Given the description of an element on the screen output the (x, y) to click on. 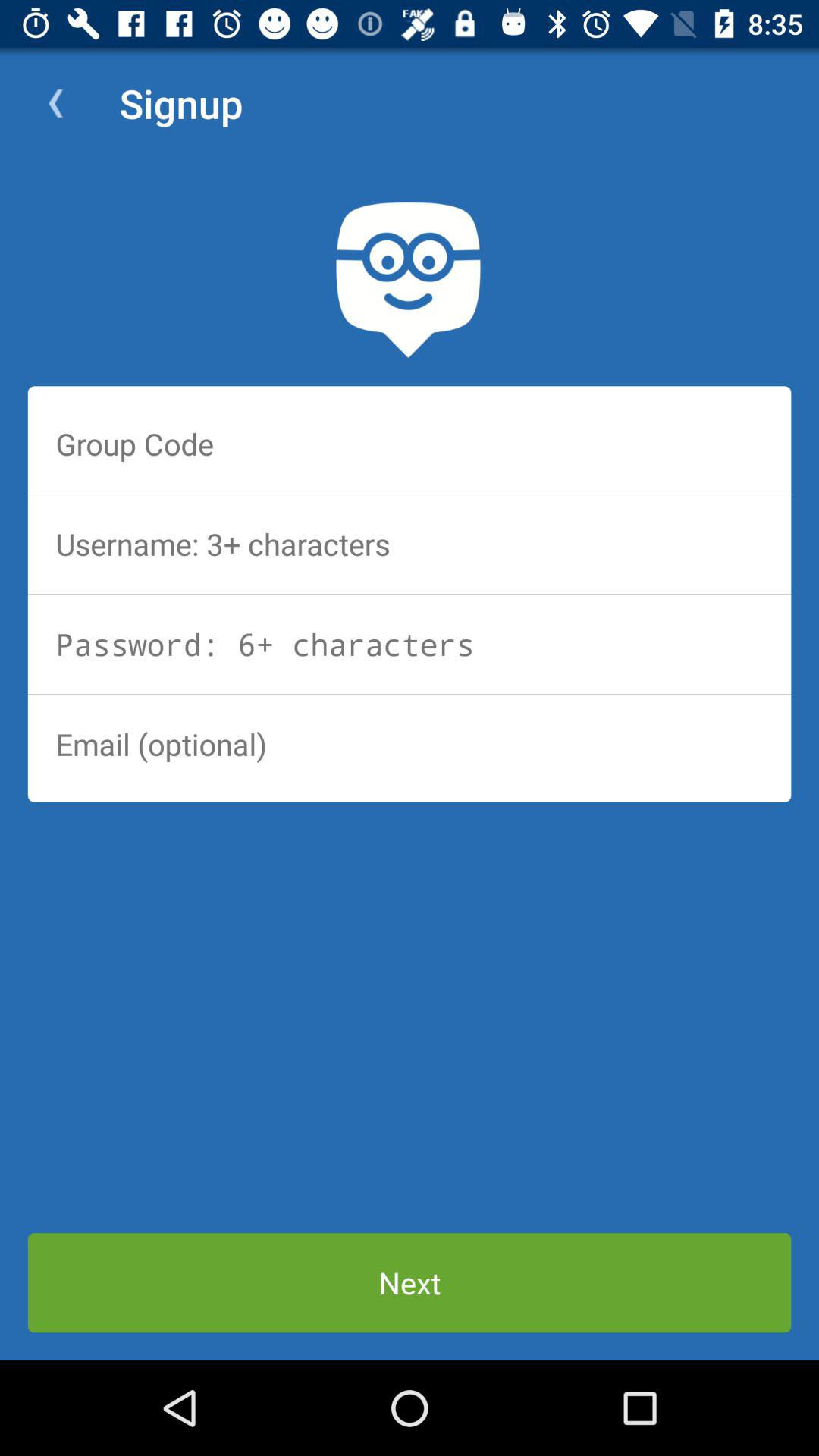
username entry (409, 543)
